Given the description of an element on the screen output the (x, y) to click on. 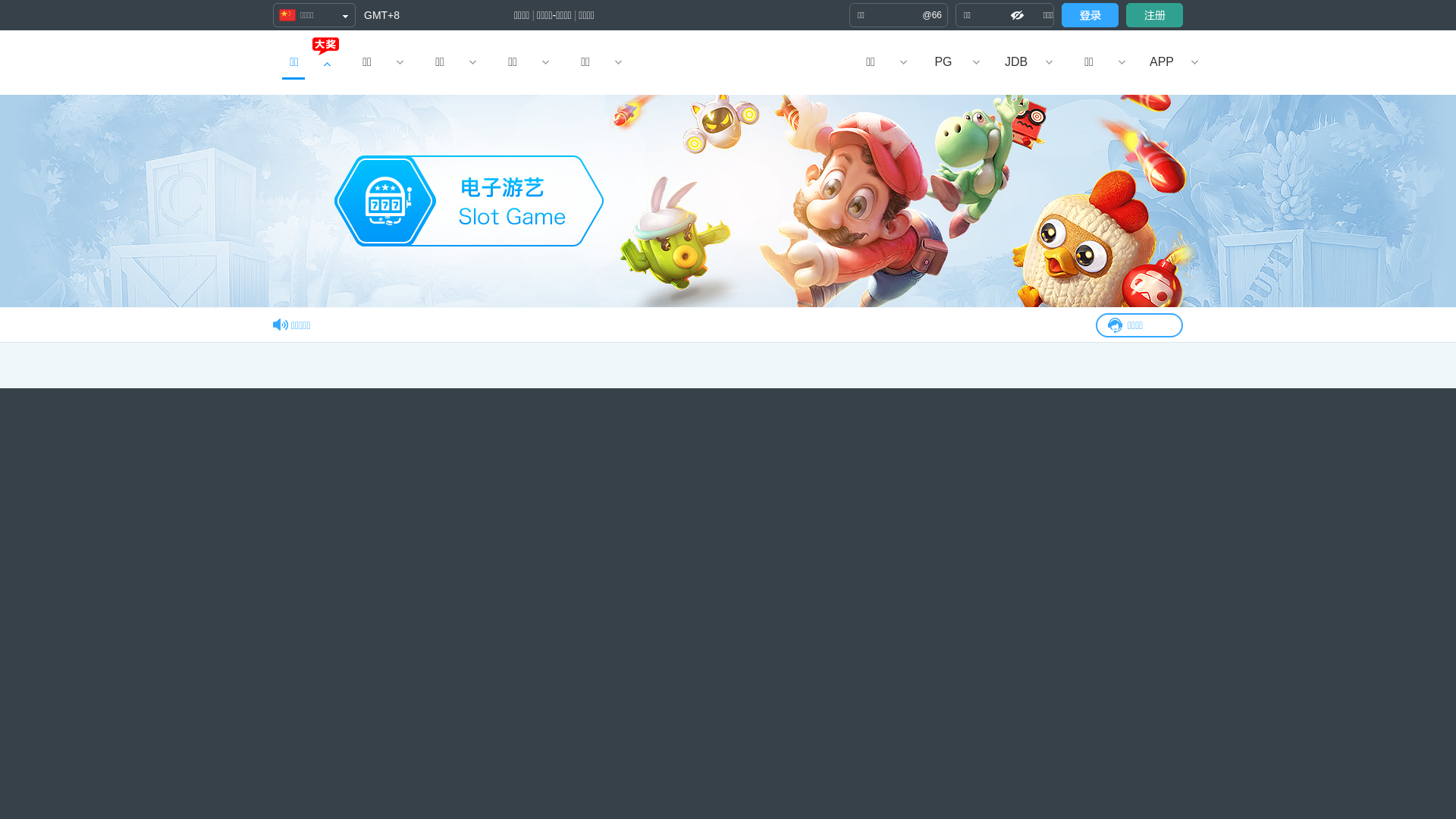
PG Element type: text (942, 62)
APP Element type: text (1161, 62)
JDB Element type: text (1015, 62)
